Given the description of an element on the screen output the (x, y) to click on. 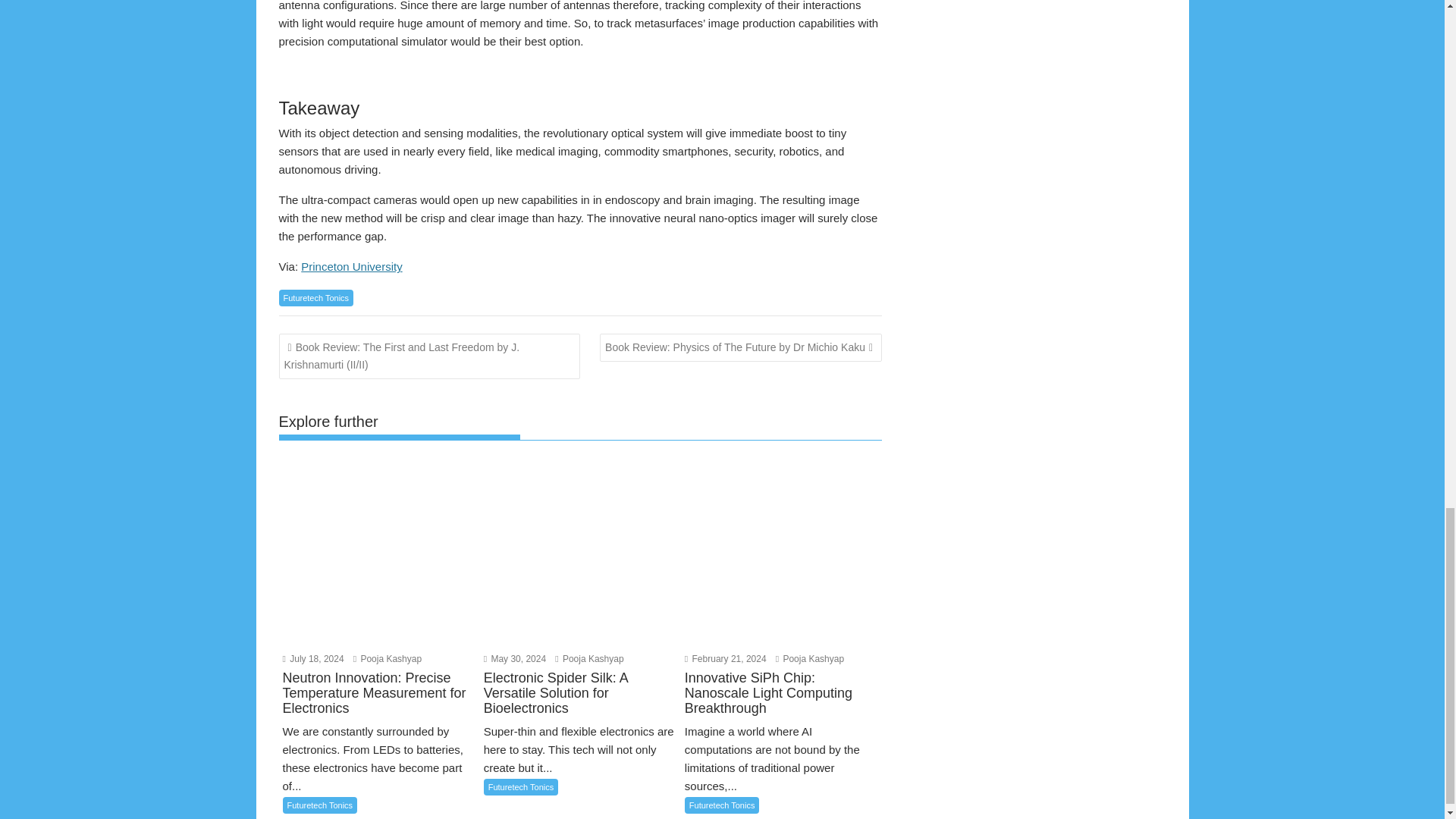
Pooja Kashyap (810, 658)
Pooja Kashyap (387, 658)
Pooja Kashyap (588, 658)
